Given the description of an element on the screen output the (x, y) to click on. 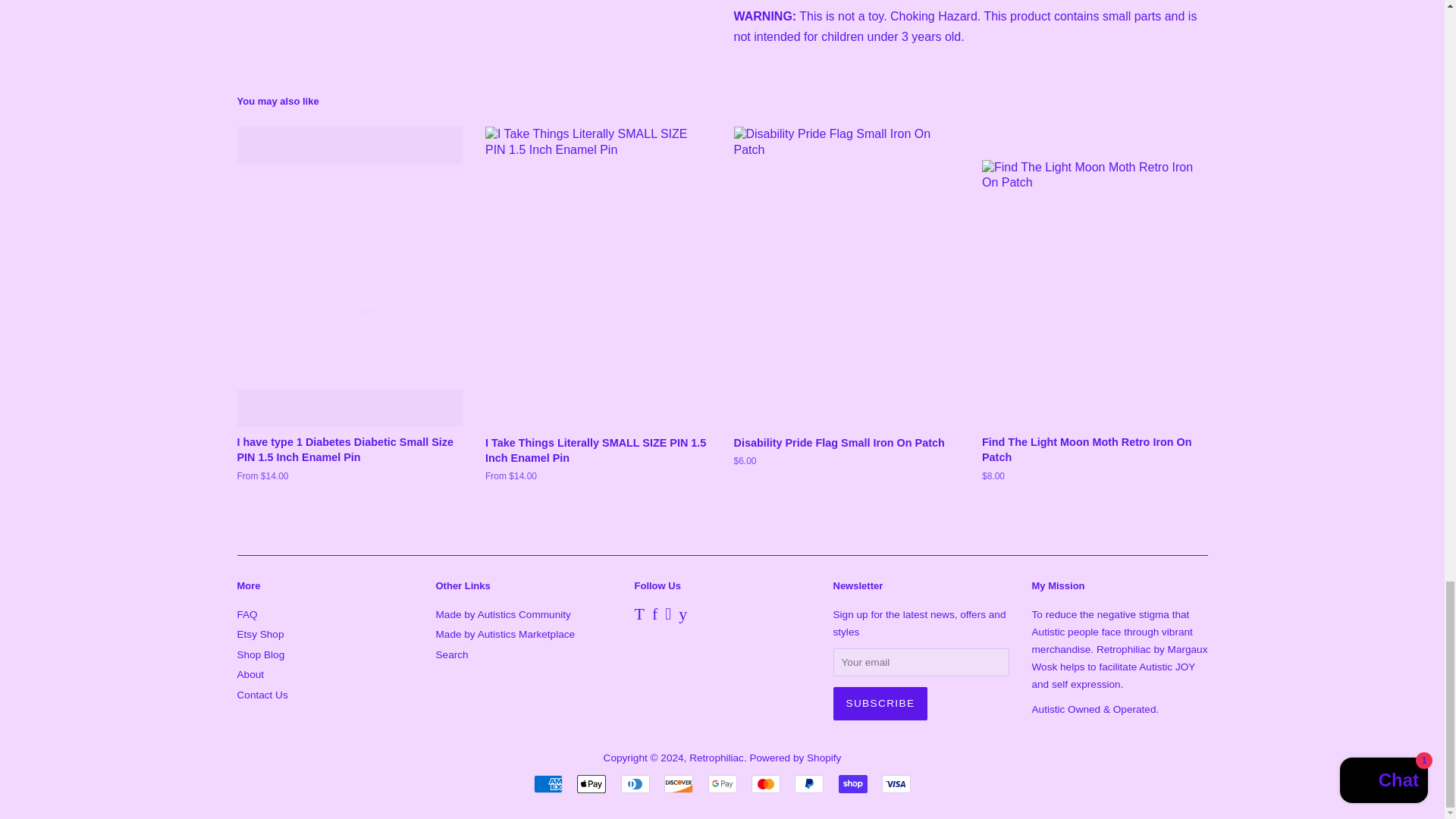
Apple Pay (590, 783)
Shop Pay (852, 783)
Retrophiliac on YouTube (682, 615)
Discover (678, 783)
Subscribe (879, 703)
PayPal (809, 783)
Retrophiliac on Facebook (655, 615)
Retrophiliac on Instagram (668, 615)
Mastercard (765, 783)
Visa (896, 783)
Retrophiliac on Twitter (638, 615)
Diners Club (635, 783)
Google Pay (721, 783)
American Express (548, 783)
